Given the description of an element on the screen output the (x, y) to click on. 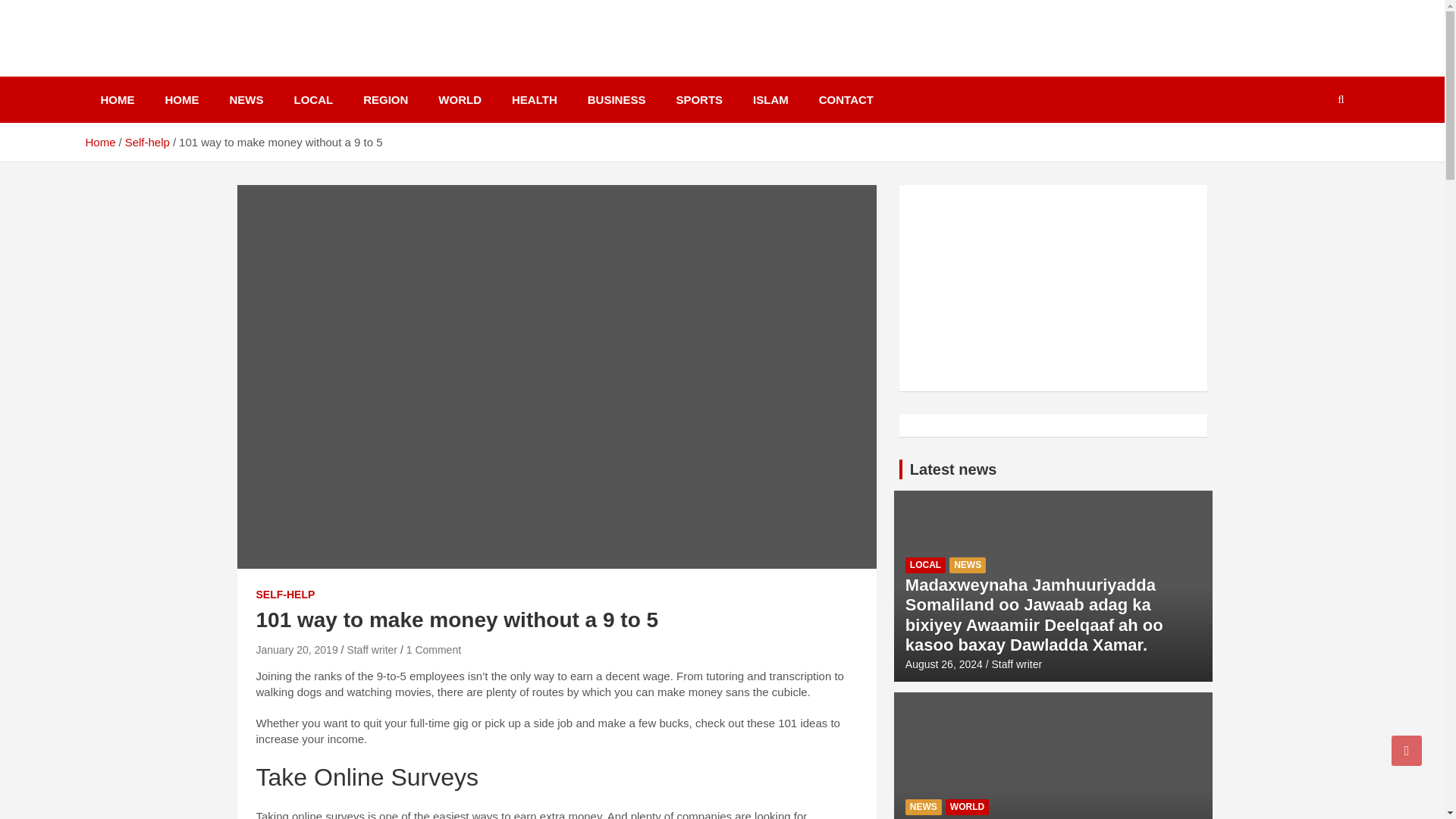
Home (99, 141)
August 26, 2024 (943, 664)
NEWS (246, 99)
Go to Top (1406, 750)
NEWS (967, 565)
LOCAL (314, 99)
BUSINESS (616, 99)
1 Comment (433, 649)
ISLAM (770, 99)
WORLD (459, 99)
